Given the description of an element on the screen output the (x, y) to click on. 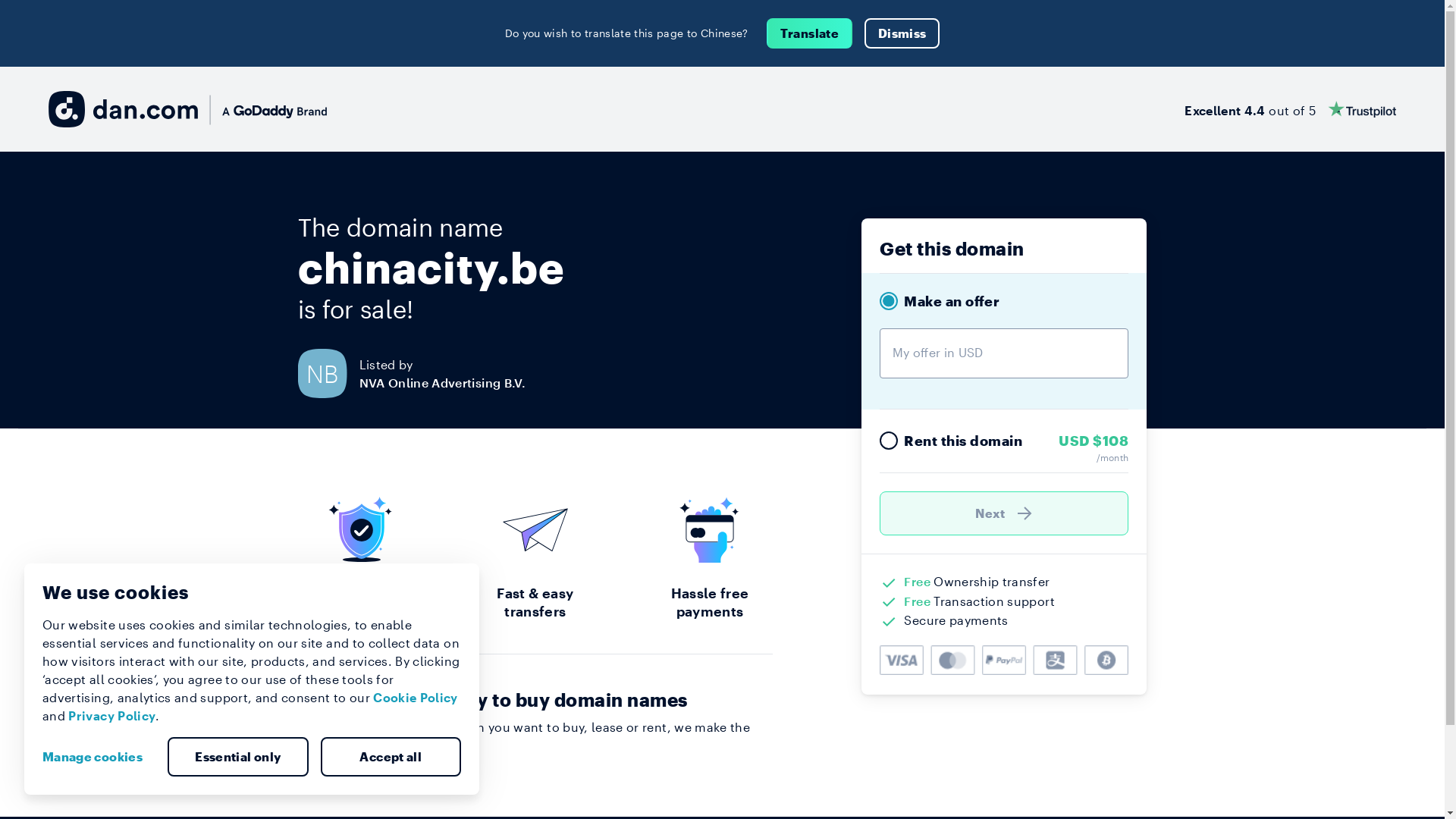
Essential only Element type: text (237, 756)
Excellent 4.4 out of 5 Element type: text (1290, 109)
Accept all Element type: text (390, 756)
Cookie Policy Element type: text (415, 697)
Manage cookies Element type: text (98, 756)
Translate Element type: text (809, 33)
Next
) Element type: text (1003, 513)
Privacy Policy Element type: text (111, 715)
Dismiss Element type: text (901, 33)
